Given the description of an element on the screen output the (x, y) to click on. 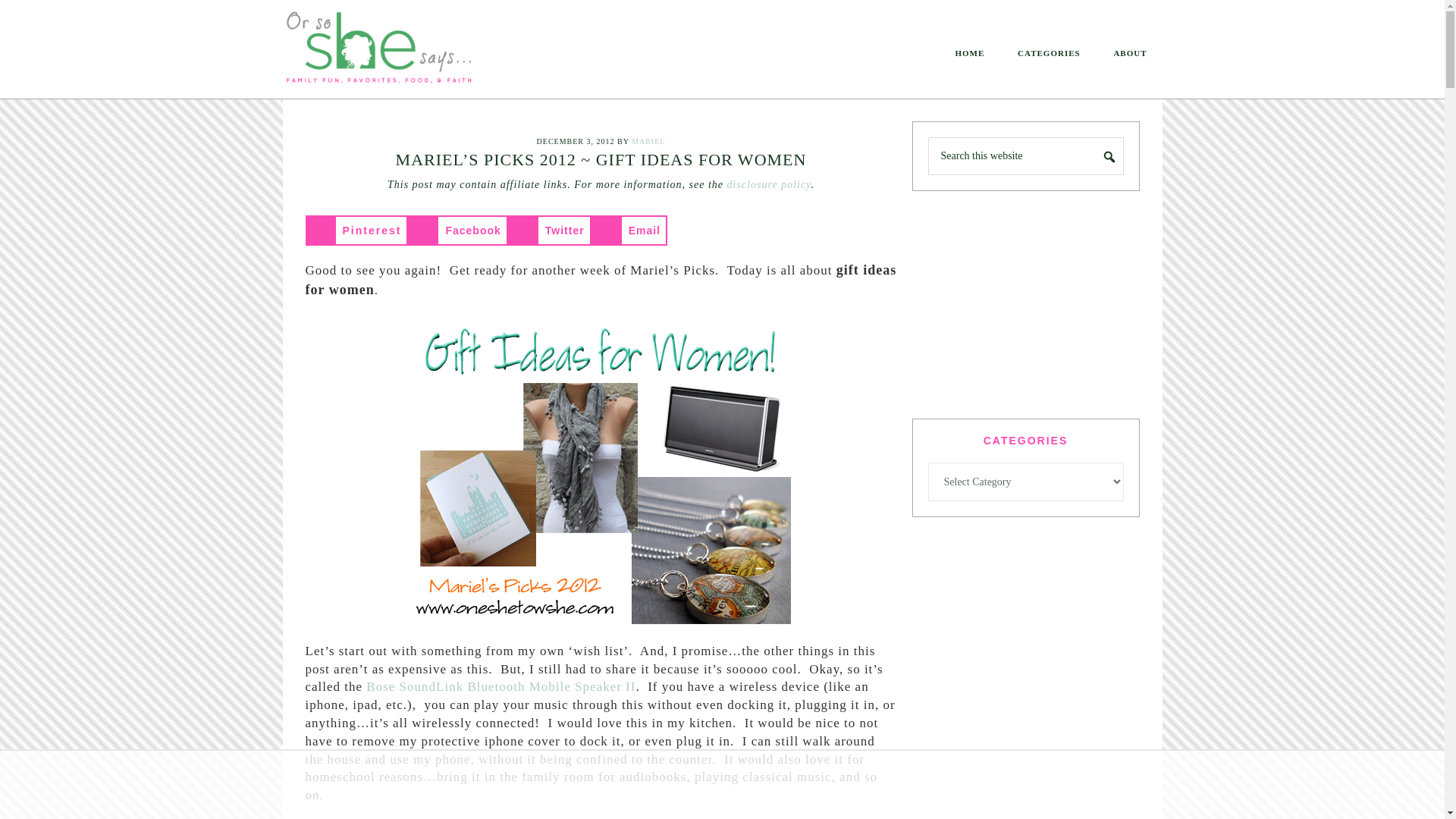
ABOUT (1129, 52)
Bose SoundLink Bluetooth Mobile Speaker II (500, 686)
OR SO SHE SAYS... (403, 52)
CATEGORIES (1049, 52)
Share on X (549, 230)
MARIEL (648, 141)
Save to Pinterest (355, 230)
Twitter (549, 230)
Share on Facebook (456, 230)
Pinterest (355, 230)
Send over email (628, 230)
disclosure policy (768, 184)
HOME (968, 52)
Email (628, 230)
Facebook (456, 230)
